Given the description of an element on the screen output the (x, y) to click on. 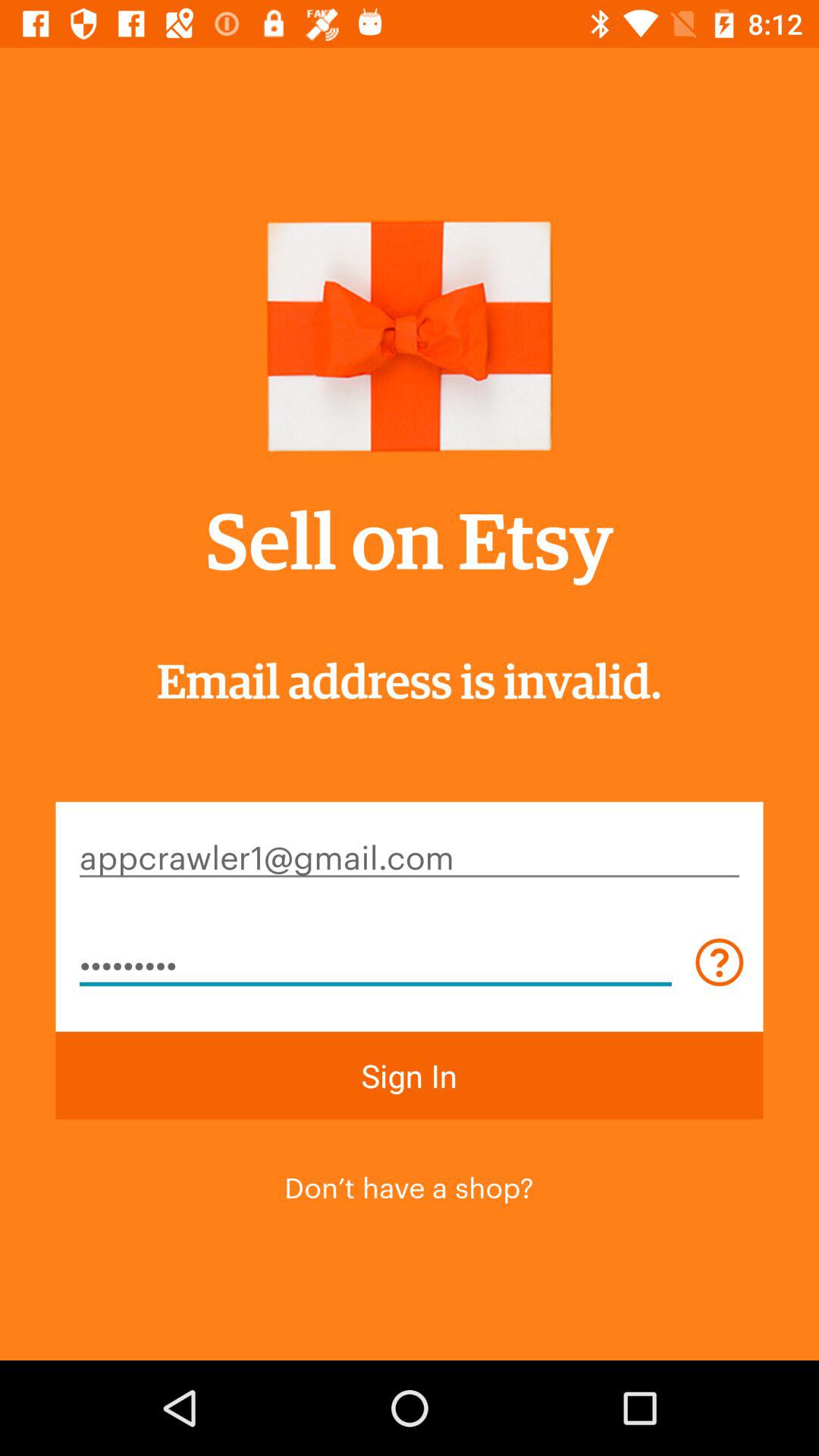
choose don t have item (408, 1185)
